Given the description of an element on the screen output the (x, y) to click on. 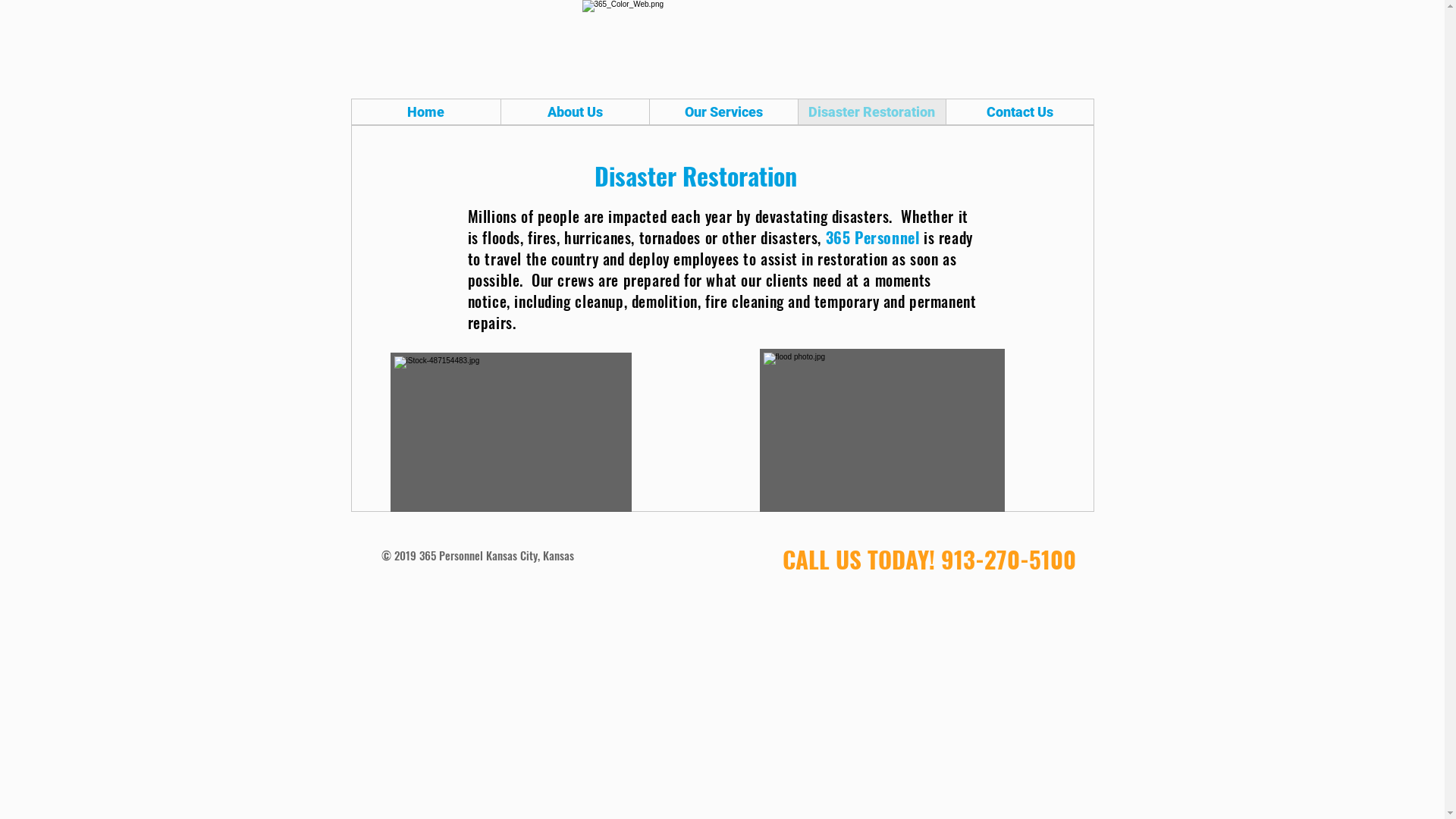
Disaster Restoration Element type: text (871, 111)
About Us Element type: text (574, 111)
Our Services Element type: text (723, 111)
Home Element type: text (425, 111)
Contact Us Element type: text (1018, 111)
